Given the description of an element on the screen output the (x, y) to click on. 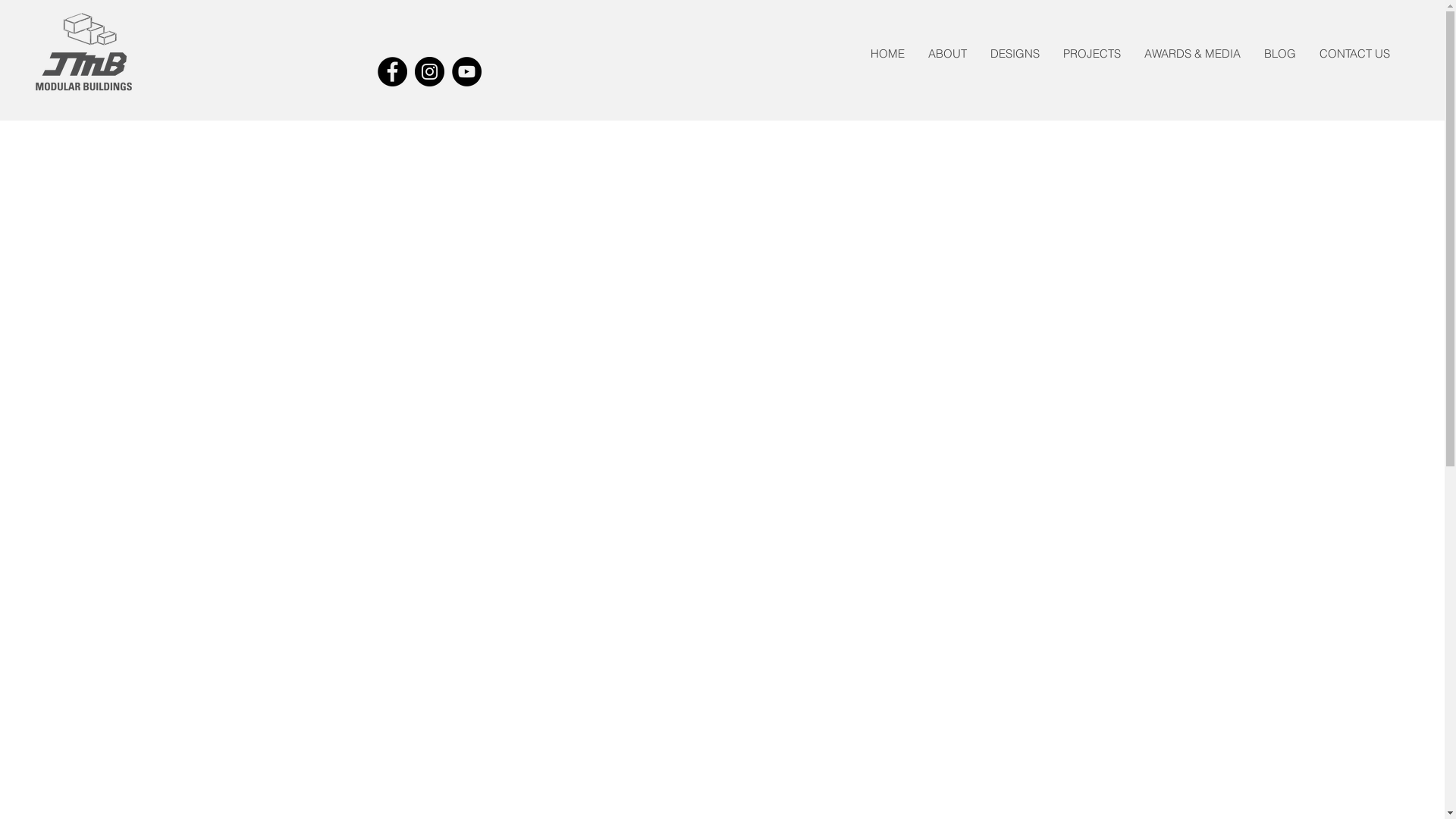
AWARDS & MEDIA Element type: text (1192, 53)
PROJECTS Element type: text (1091, 53)
HOME Element type: text (887, 53)
BLOG Element type: text (1279, 53)
